Given the description of an element on the screen output the (x, y) to click on. 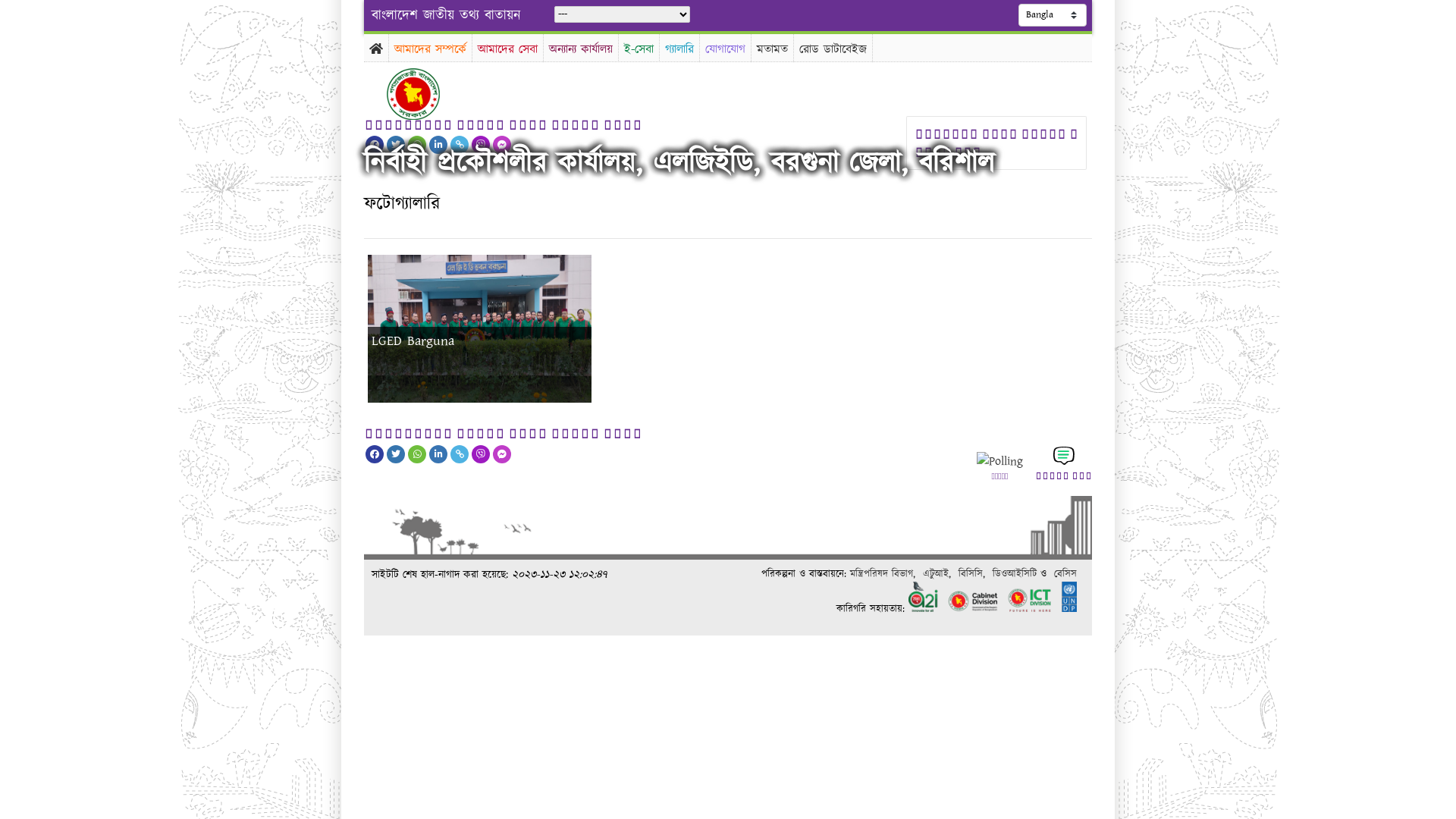
LGED Barguna Element type: text (477, 398)

                
             Element type: hover (426, 93)
